Given the description of an element on the screen output the (x, y) to click on. 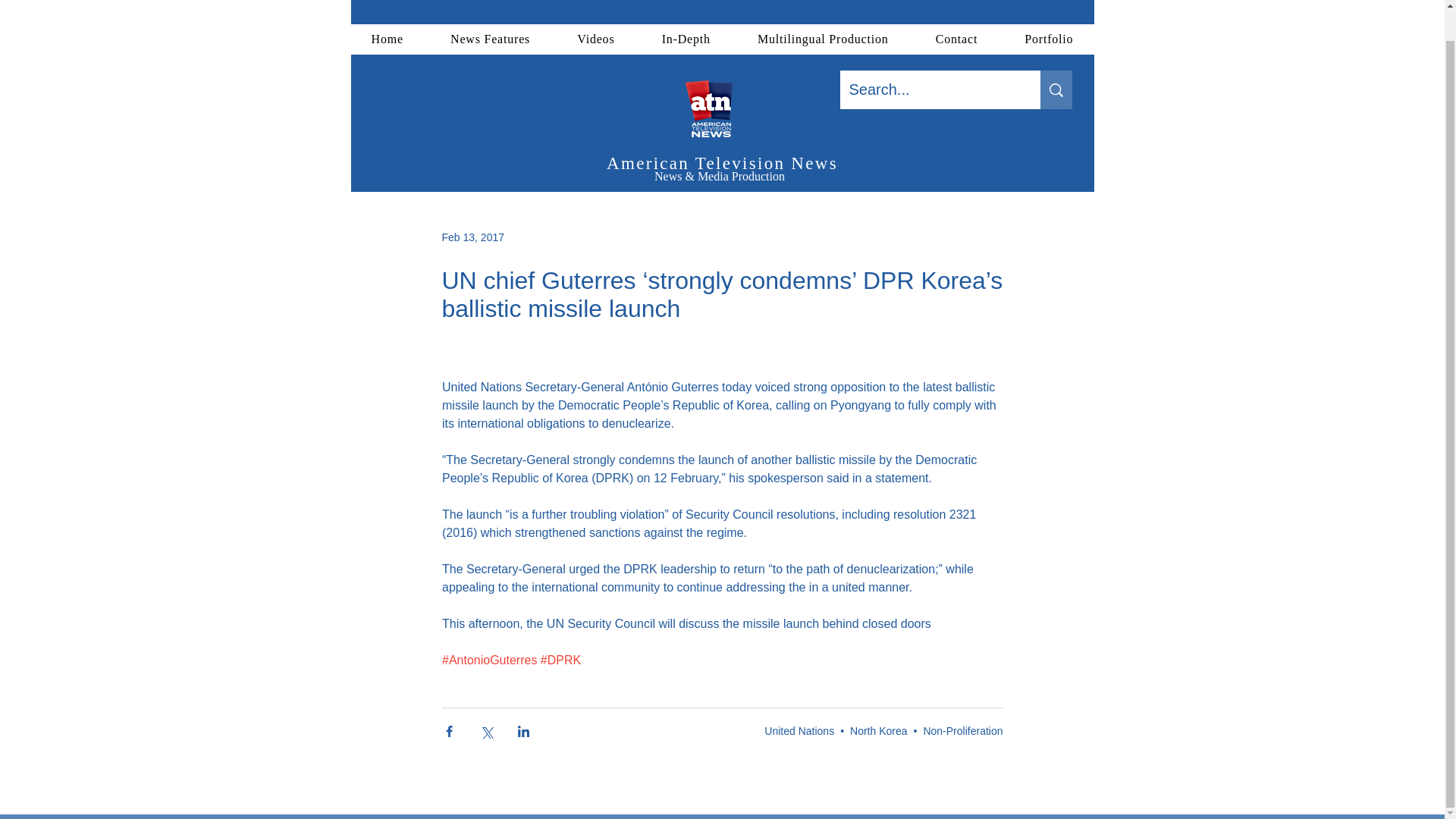
Portfolio (1048, 11)
Feb 13, 2017 (472, 236)
Artboard 1.png (721, 80)
Contact (956, 11)
Home (386, 11)
